Given the description of an element on the screen output the (x, y) to click on. 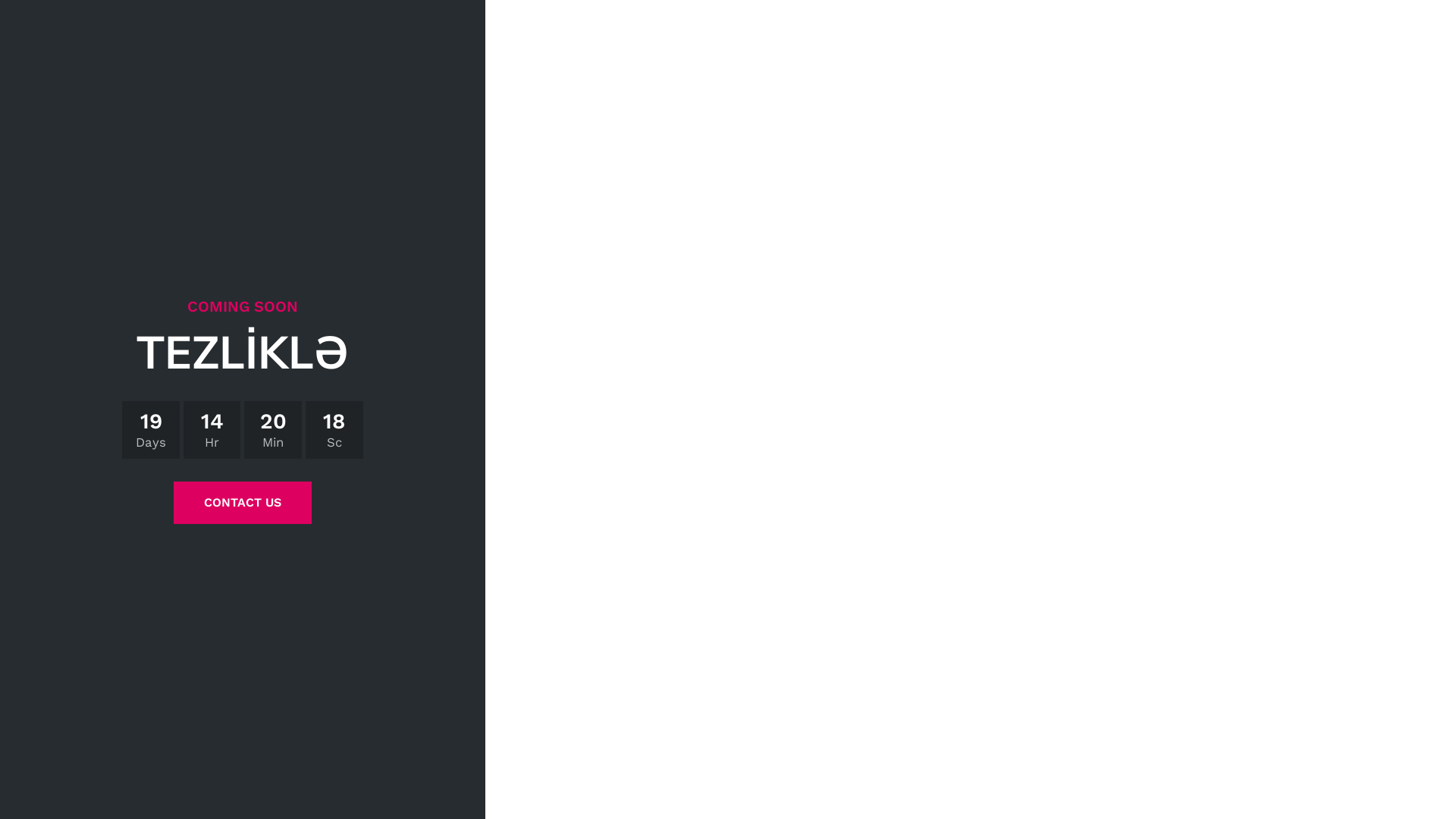
CONTACT US Element type: text (242, 502)
